Given the description of an element on the screen output the (x, y) to click on. 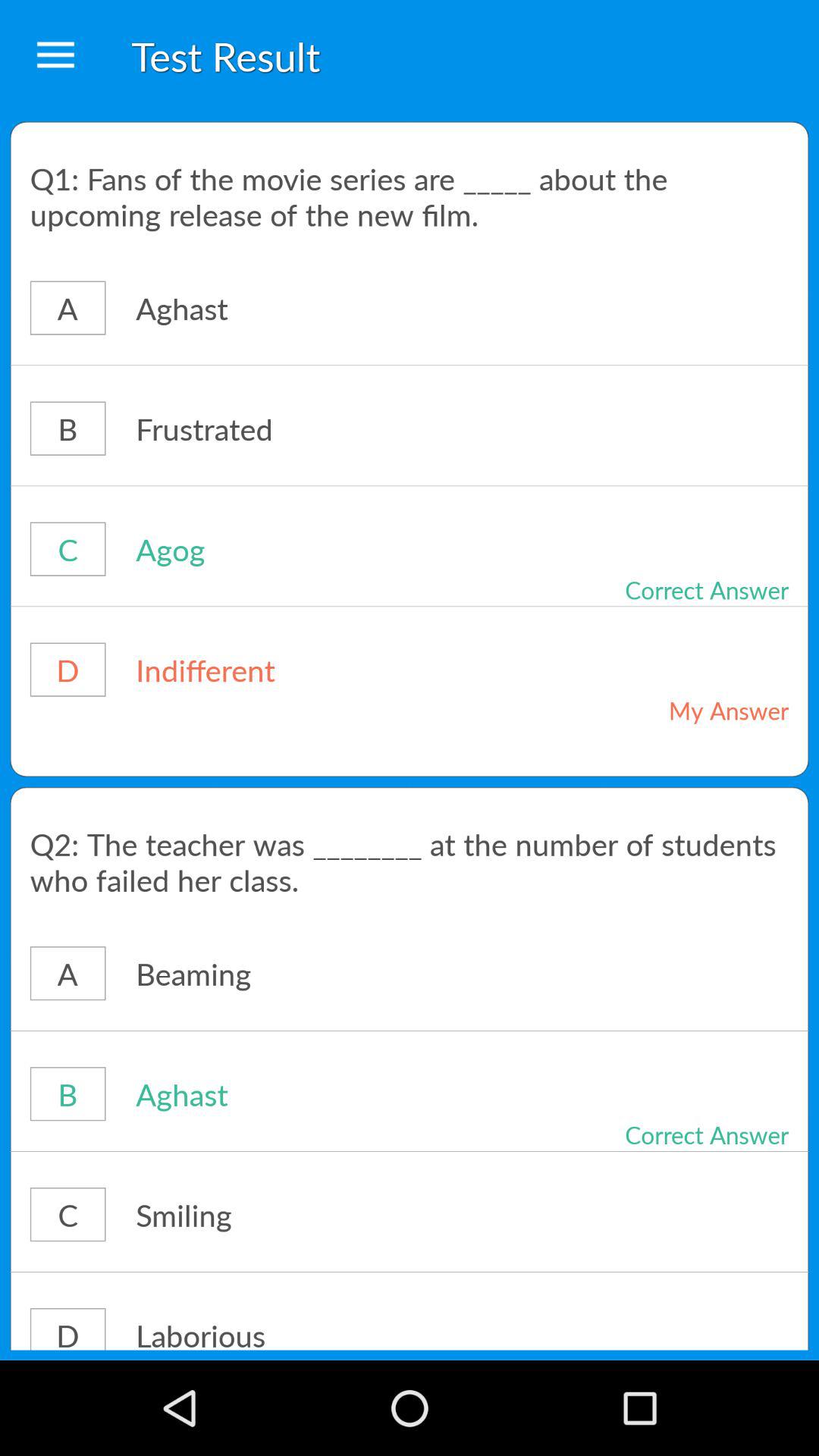
press icon below the a icon (409, 365)
